Given the description of an element on the screen output the (x, y) to click on. 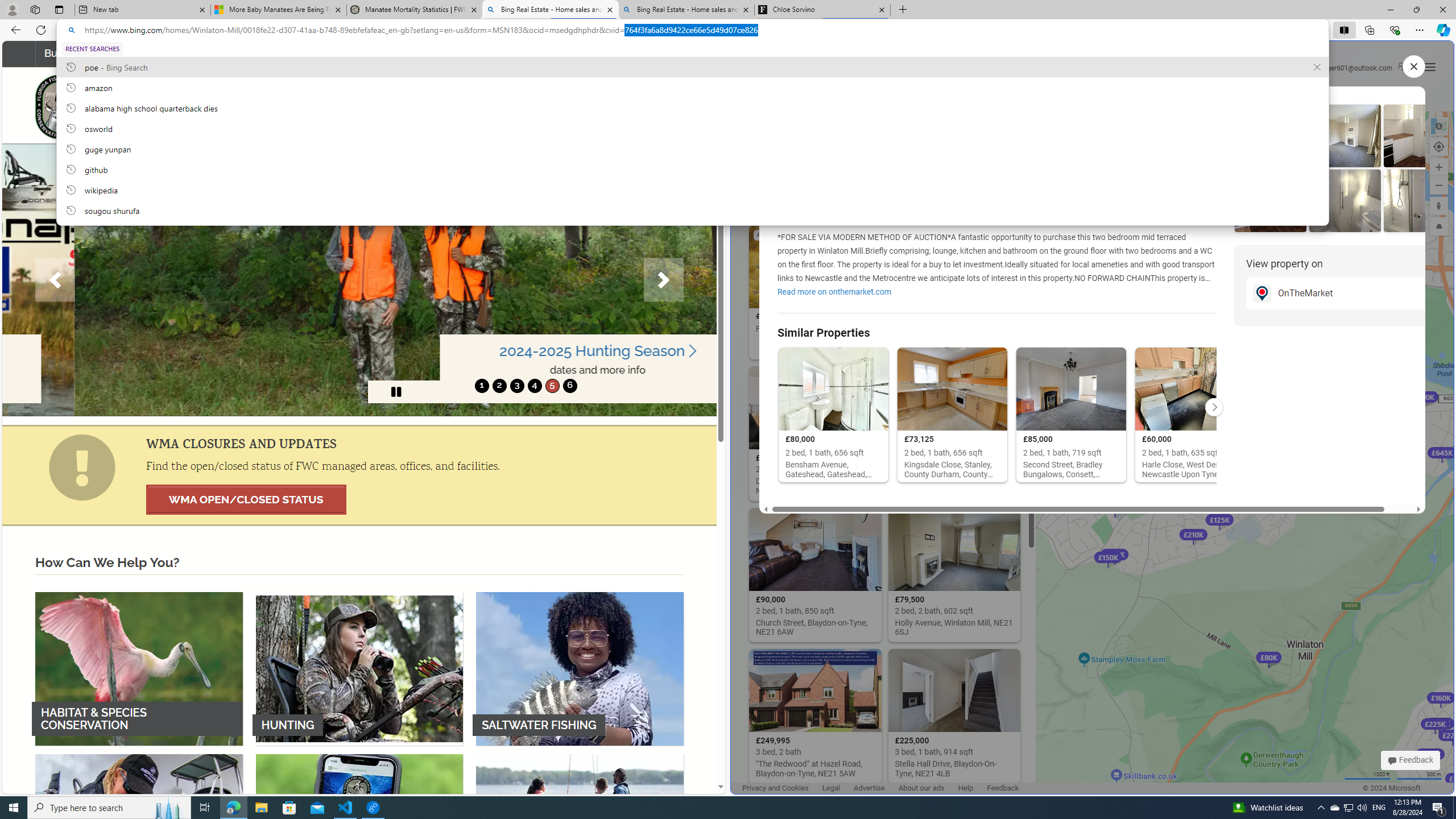
3 (516, 385)
carousel image link (359, 279)
6 (569, 385)
Places To Go (566, 53)
2 (499, 385)
2024-2025 Hunting Season  (525, 351)
4 (534, 385)
execute site search (667, 106)
